Given the description of an element on the screen output the (x, y) to click on. 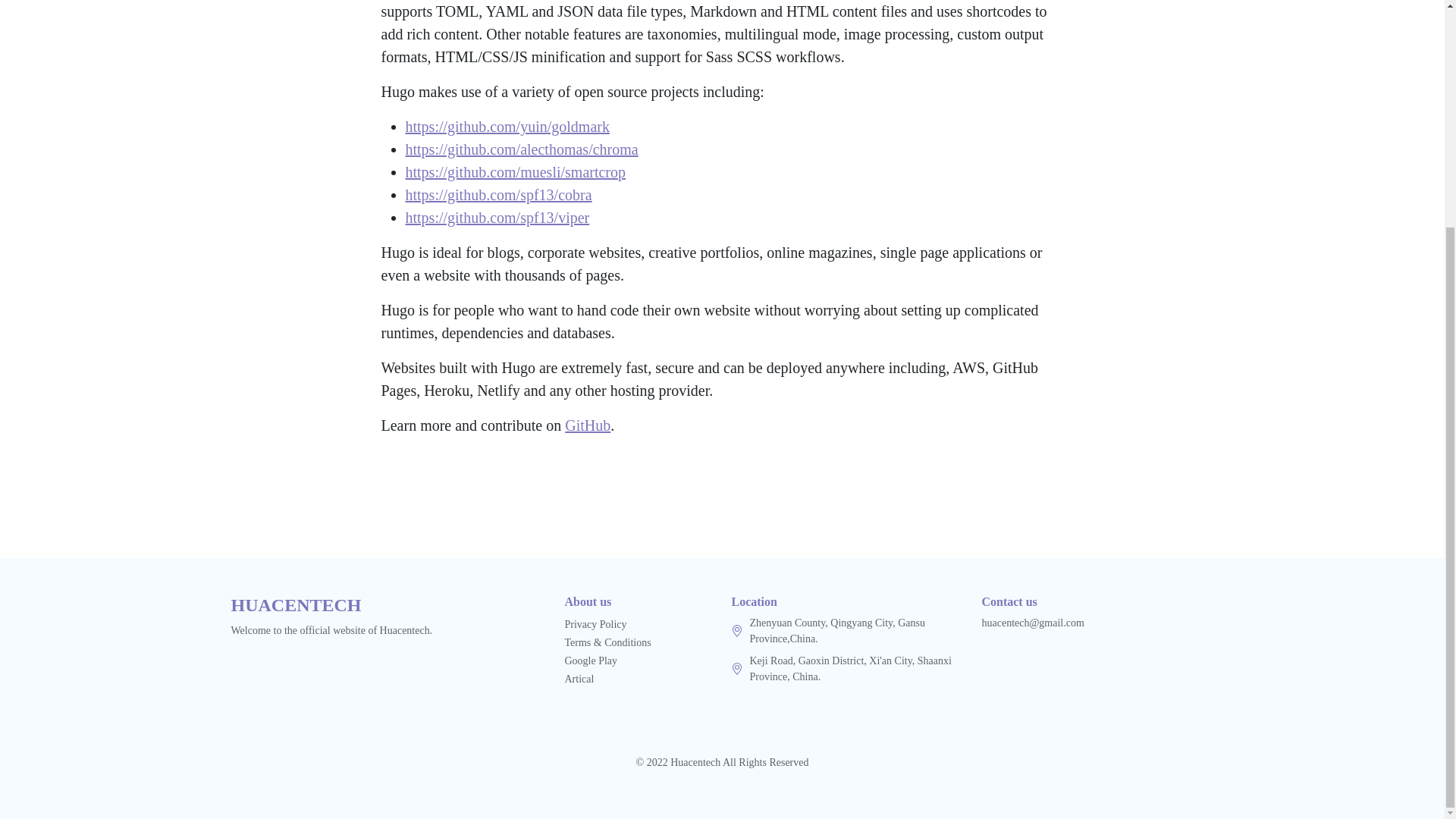
Artical (579, 678)
GitHub (587, 425)
Privacy Policy (595, 624)
Google Play (590, 660)
